Given the description of an element on the screen output the (x, y) to click on. 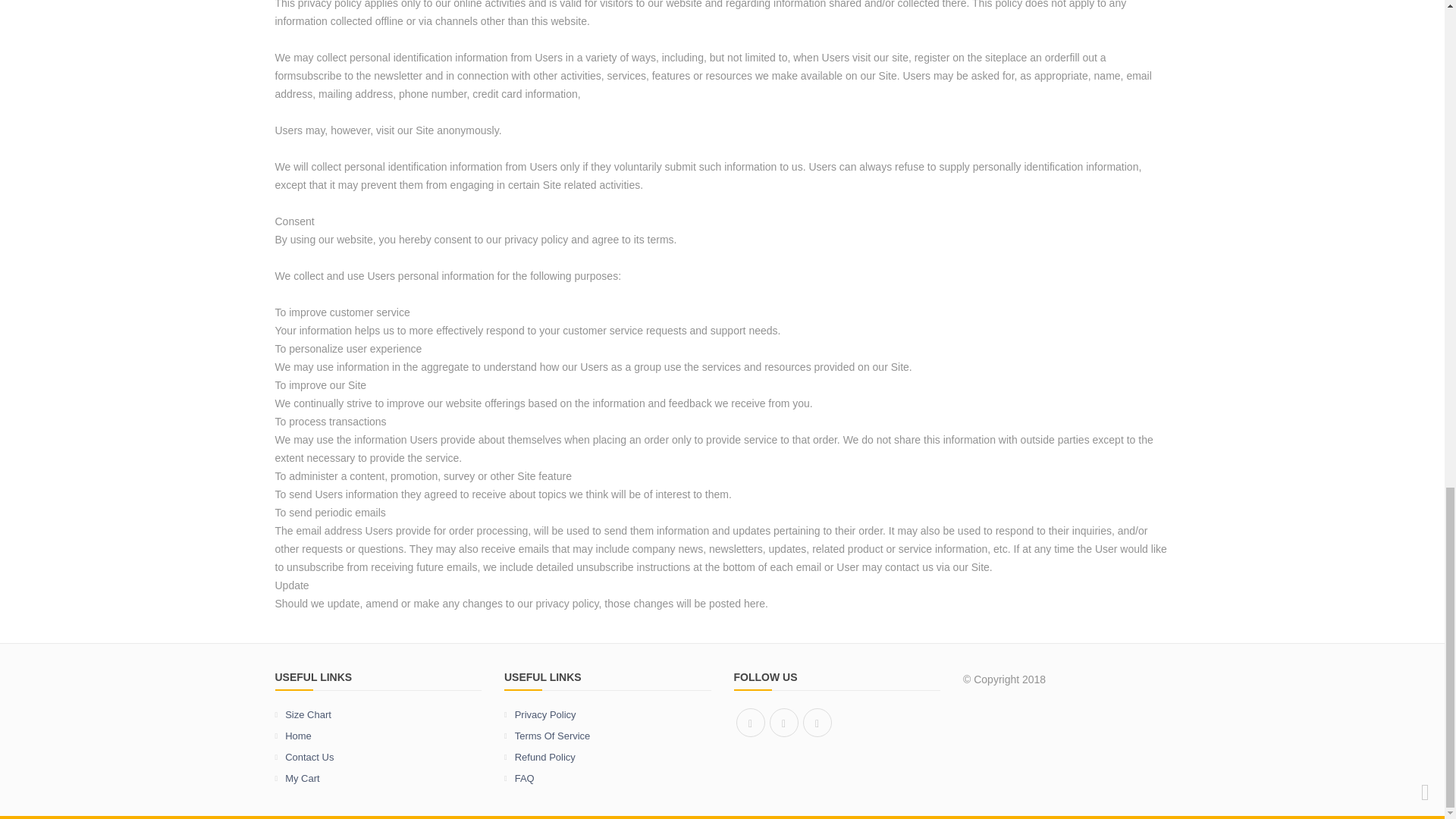
Facebook (749, 722)
Home (378, 736)
Pinterest (782, 722)
Privacy Policy (607, 714)
My Cart (378, 778)
Contact Us (378, 757)
Instagram (816, 722)
Size Chart (378, 714)
